Given the description of an element on the screen output the (x, y) to click on. 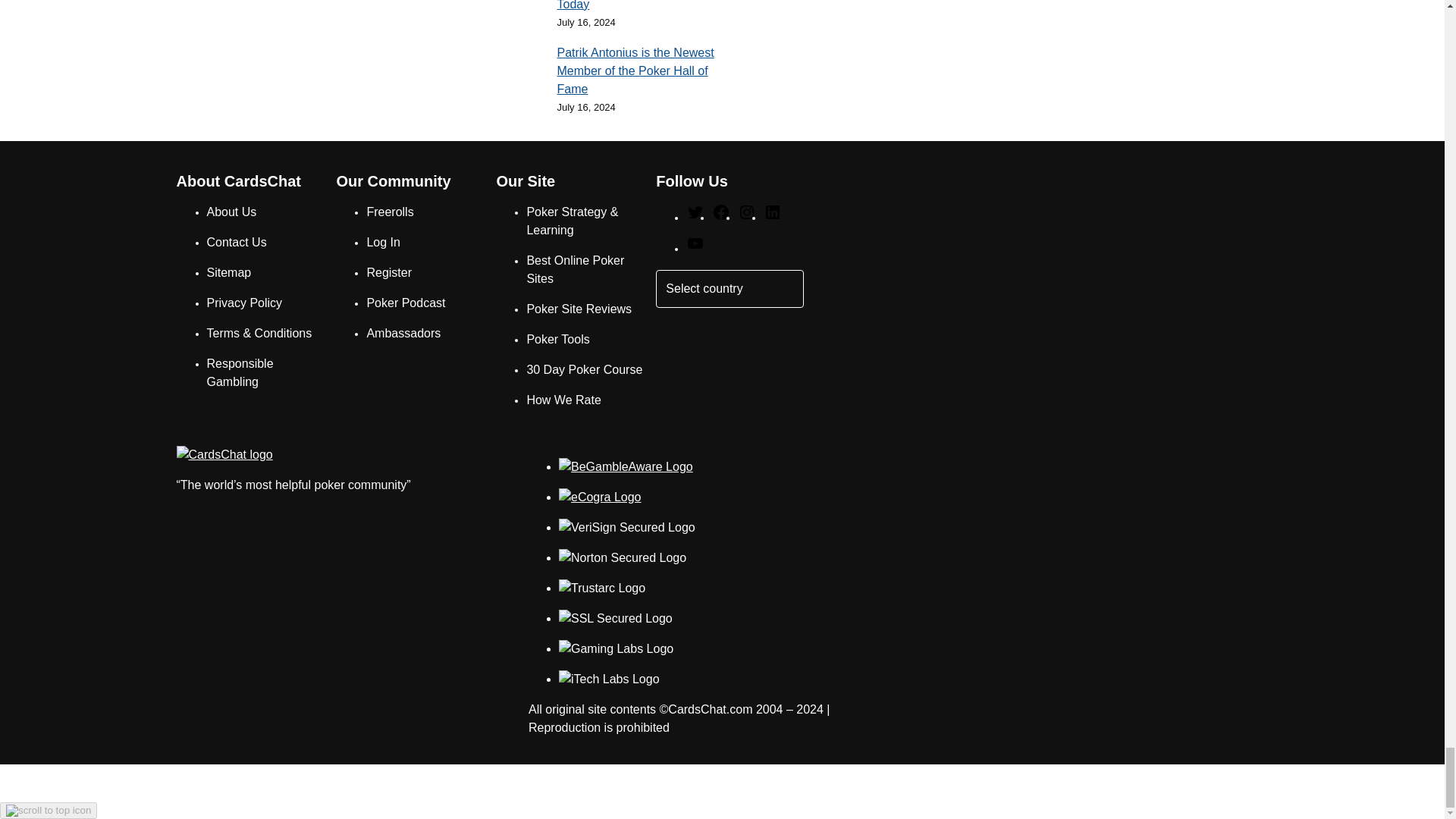
Trustarc Logo (602, 588)
eCogra Logo (600, 497)
Gaming Labs Logo (615, 648)
SSL Secured Logo (615, 618)
BeGambleAware Logo (626, 466)
Norton Secured Logo (622, 557)
VeriSign Secured Logo (627, 527)
iTech Labs Logo (609, 679)
